Given the description of an element on the screen output the (x, y) to click on. 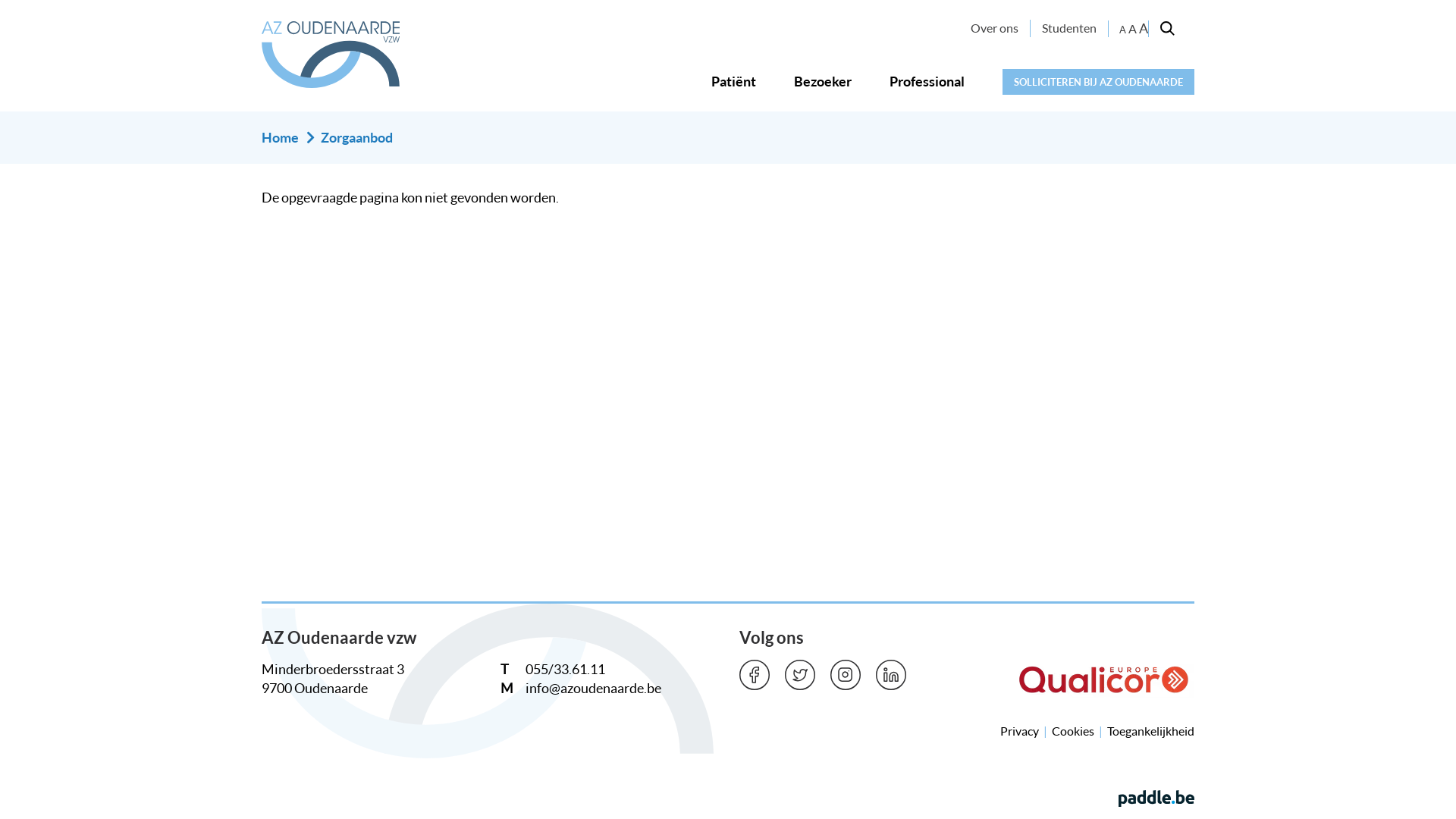
Toegankelijkheid Element type: text (1150, 730)
Professional Element type: text (926, 81)
Cookies Element type: text (1072, 730)
Bezoeker Element type: text (822, 81)
Instagram Element type: text (845, 674)
info@azoudenaarde.be Element type: text (593, 687)
Zorgaanbod Element type: text (356, 137)
Paddle CMS Platform Element type: hover (1156, 797)
qualicor-logo.svg Element type: hover (1103, 679)
Privacy Element type: text (1019, 730)
A Element type: text (1143, 27)
Facebook Element type: text (754, 674)
Over ons Element type: text (994, 27)
Home Element type: text (279, 137)
Twitter Element type: text (799, 674)
Ga naar de homepage Element type: hover (330, 54)
A Element type: text (1122, 29)
055/33.61.11 Element type: text (565, 668)
Naar de inhoud Element type: text (0, 0)
A Element type: text (1132, 28)
SOLLICITEREN BIJ AZ OUDENAARDE Element type: text (1098, 81)
Linkedin Element type: text (890, 674)
Studenten Element type: text (1068, 27)
